Given the description of an element on the screen output the (x, y) to click on. 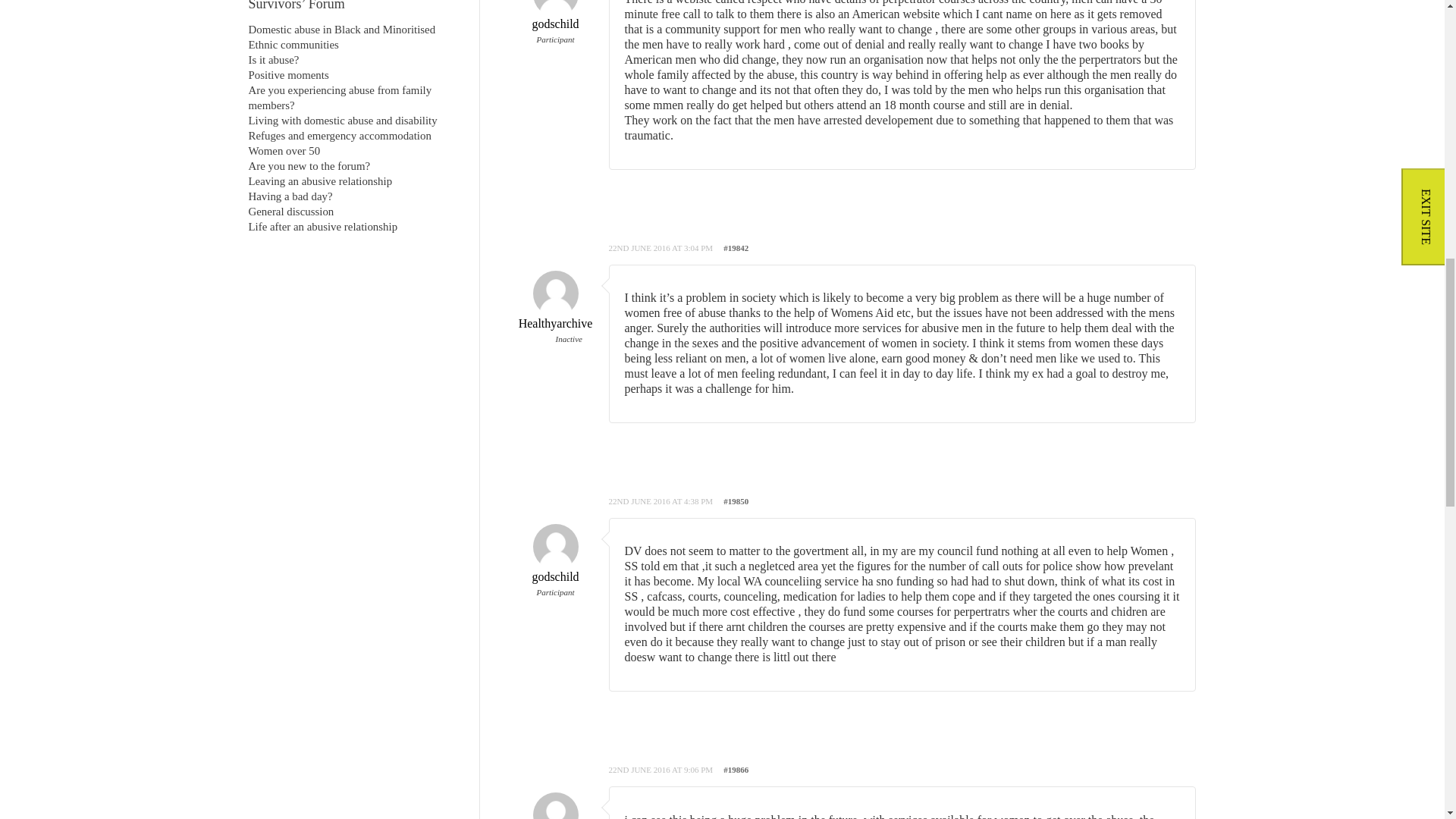
godschild (554, 15)
Healthyarchive (554, 307)
View godschild's profile (554, 15)
Healthyarchive (554, 813)
godschild (554, 560)
